Given the description of an element on the screen output the (x, y) to click on. 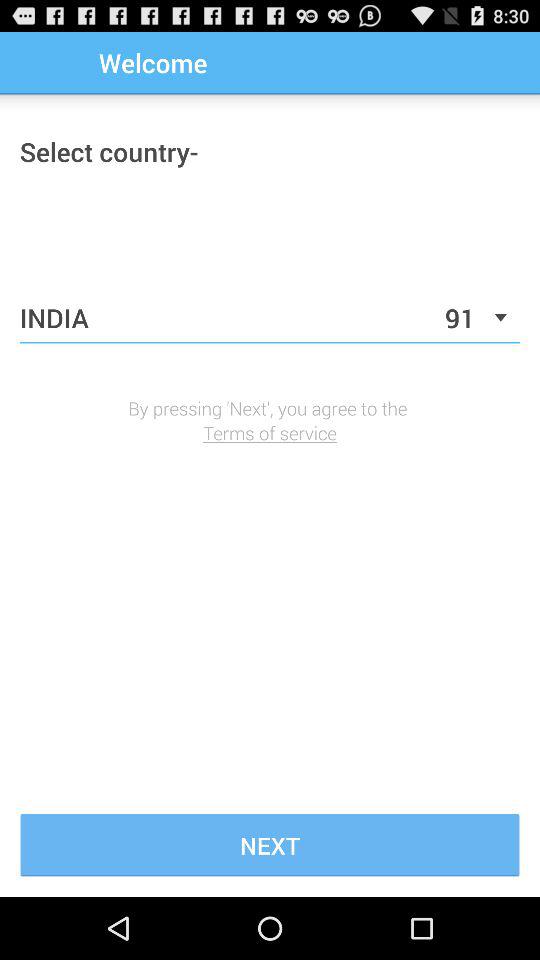
turn on the icon below by pressing next (269, 432)
